Given the description of an element on the screen output the (x, y) to click on. 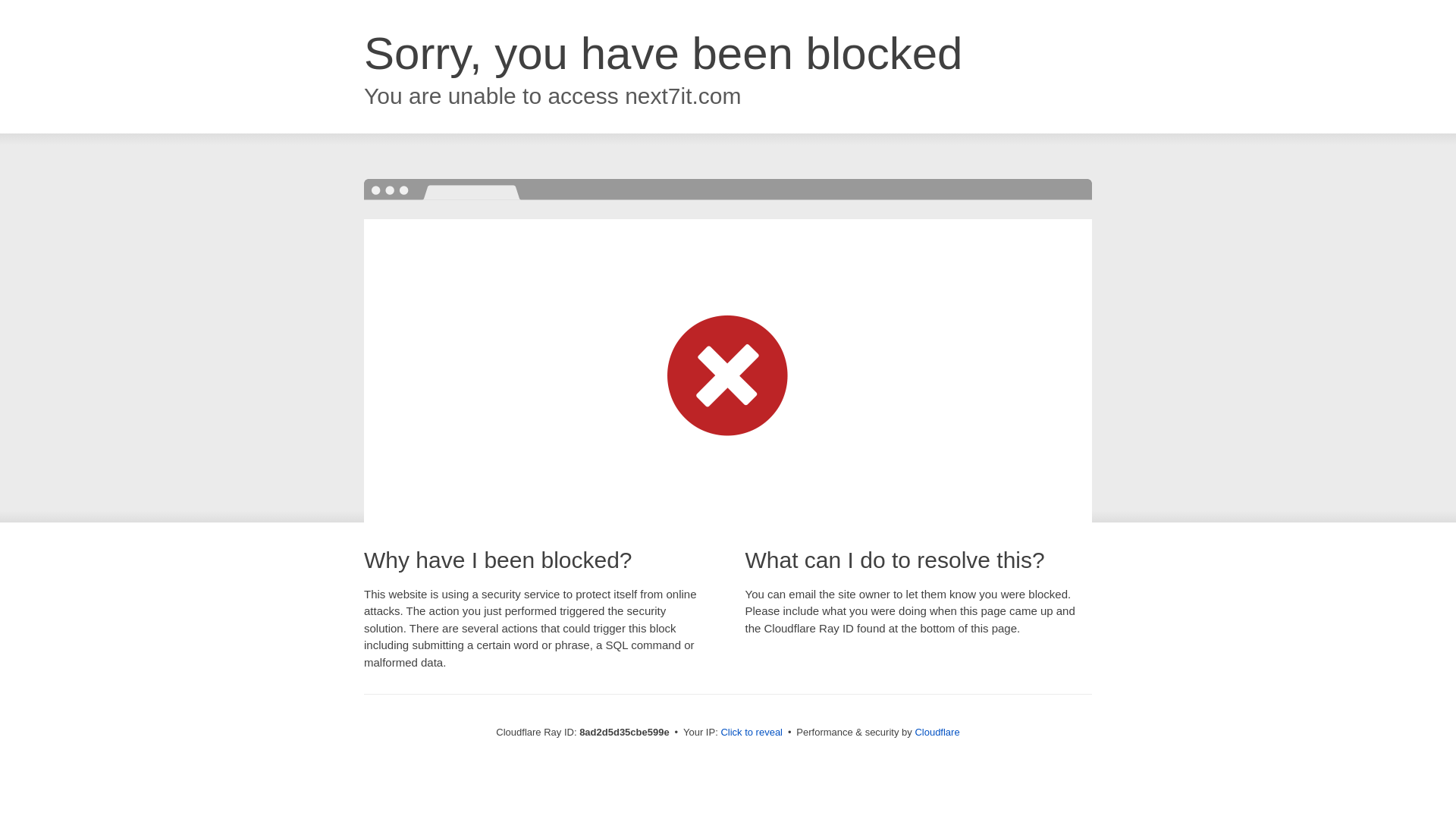
Cloudflare (936, 731)
Click to reveal (751, 732)
